Given the description of an element on the screen output the (x, y) to click on. 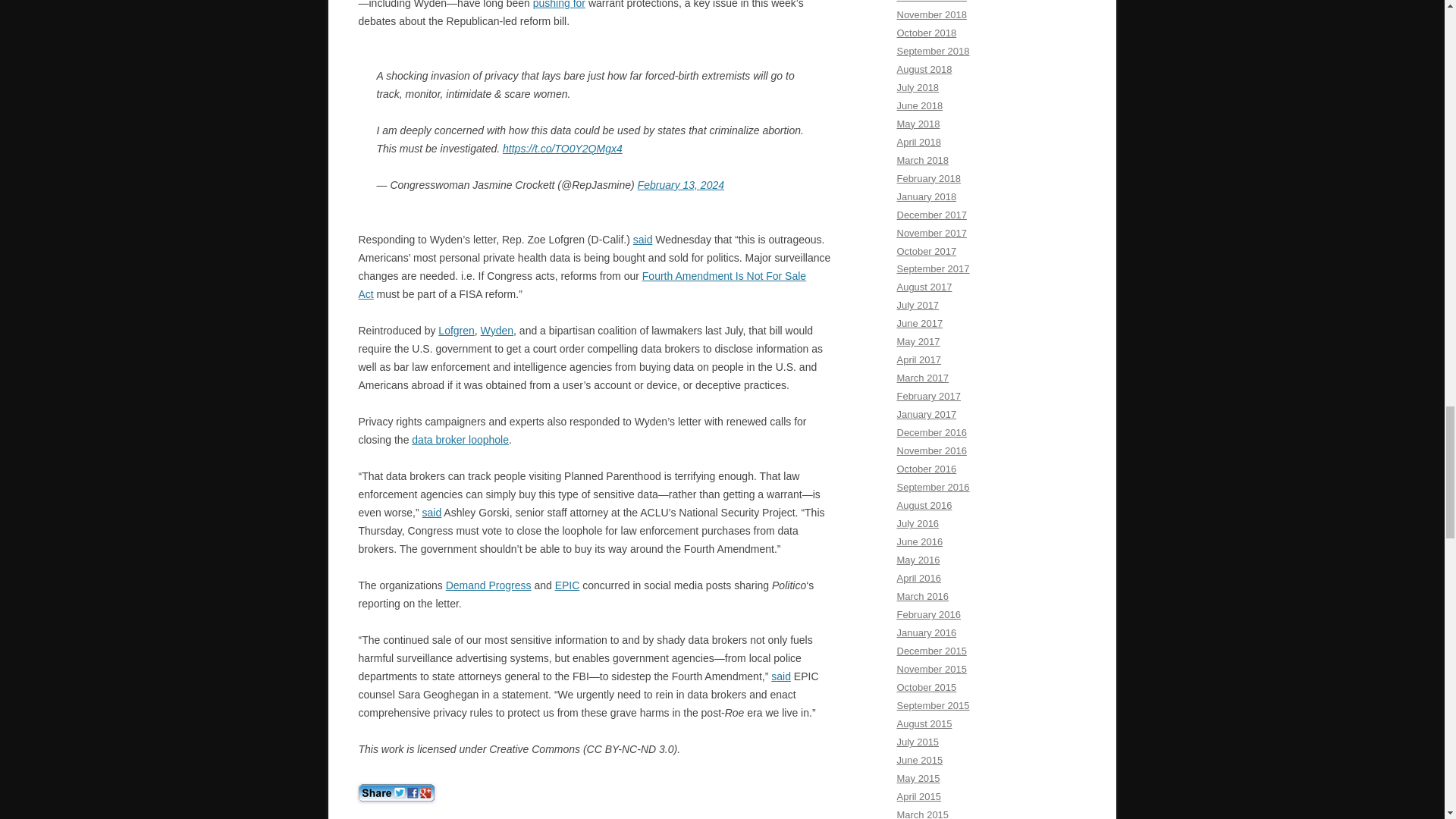
said (642, 239)
Wyden (496, 330)
Fourth Amendment Is Not For Sale Act (582, 285)
February 13, 2024 (680, 184)
EPIC (566, 585)
said (432, 512)
data broker loophole (460, 439)
Demand Progress (488, 585)
pushing for (558, 4)
Lofgren (456, 330)
